Given the description of an element on the screen output the (x, y) to click on. 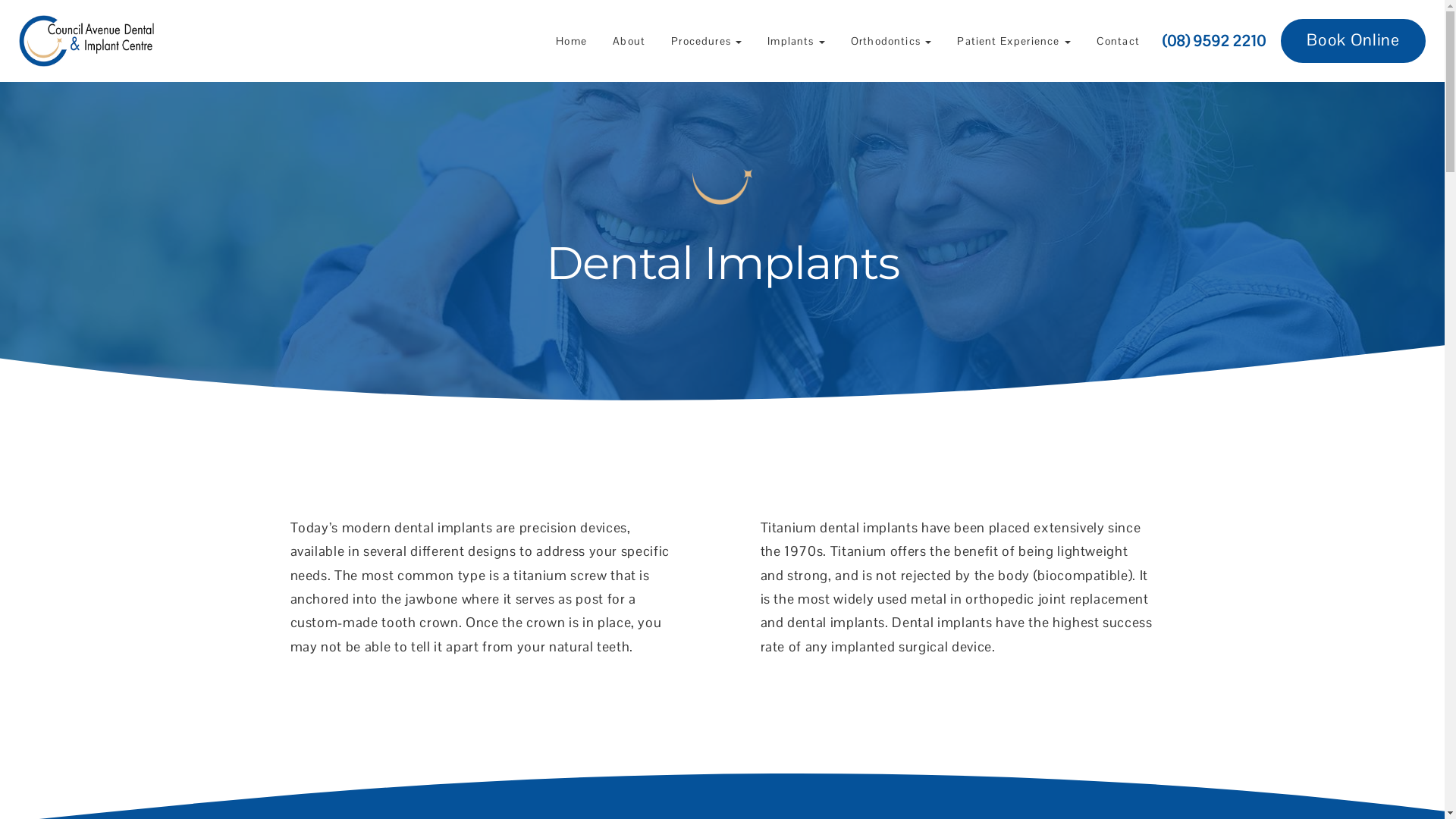
Procedures Element type: text (706, 40)
Patient Experience Element type: text (1013, 40)
Orthodontics Element type: text (890, 40)
Contact Element type: text (1118, 40)
(08) 9592 2210 Element type: text (1213, 40)
Implants Element type: text (796, 40)
Home Element type: text (571, 40)
Book Online Element type: text (1352, 40)
About Element type: text (628, 40)
